Given the description of an element on the screen output the (x, y) to click on. 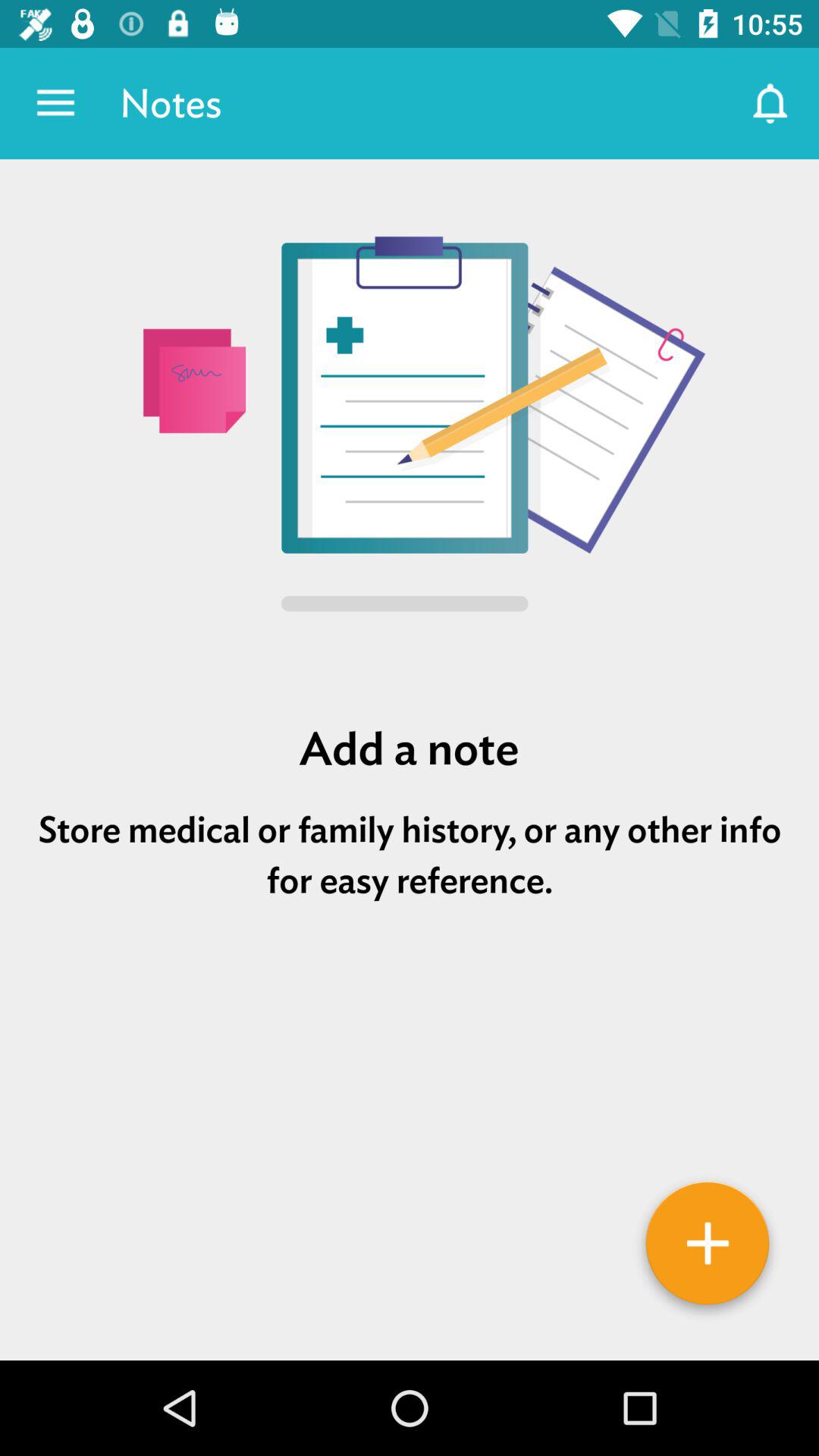
button to add a note (707, 1248)
